Given the description of an element on the screen output the (x, y) to click on. 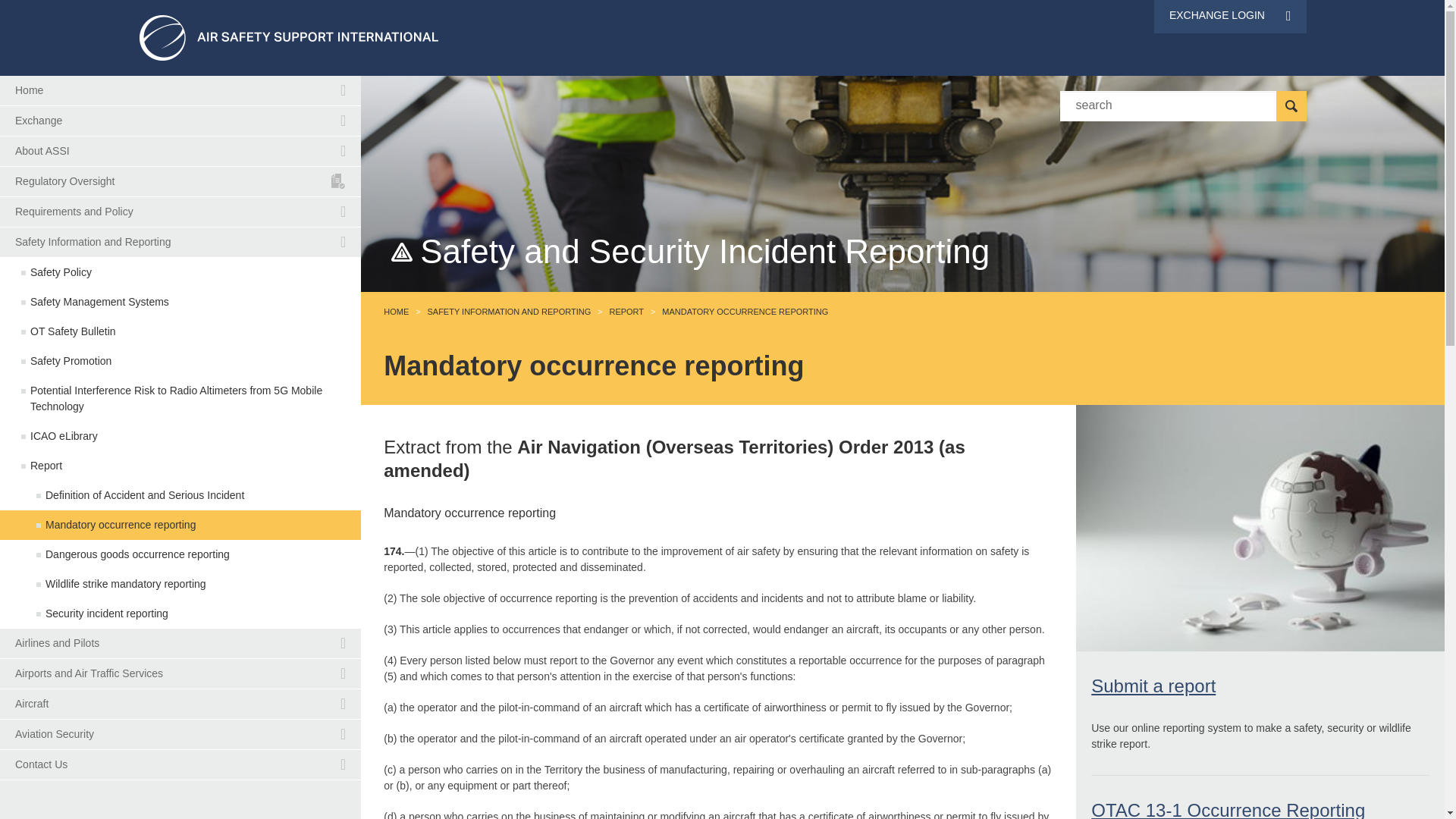
Search (180, 121)
Exchange navigation item (1290, 105)
logo (180, 91)
Home navigation item (180, 151)
EXCHANGE LOGIN (180, 121)
Search (288, 37)
